Given the description of an element on the screen output the (x, y) to click on. 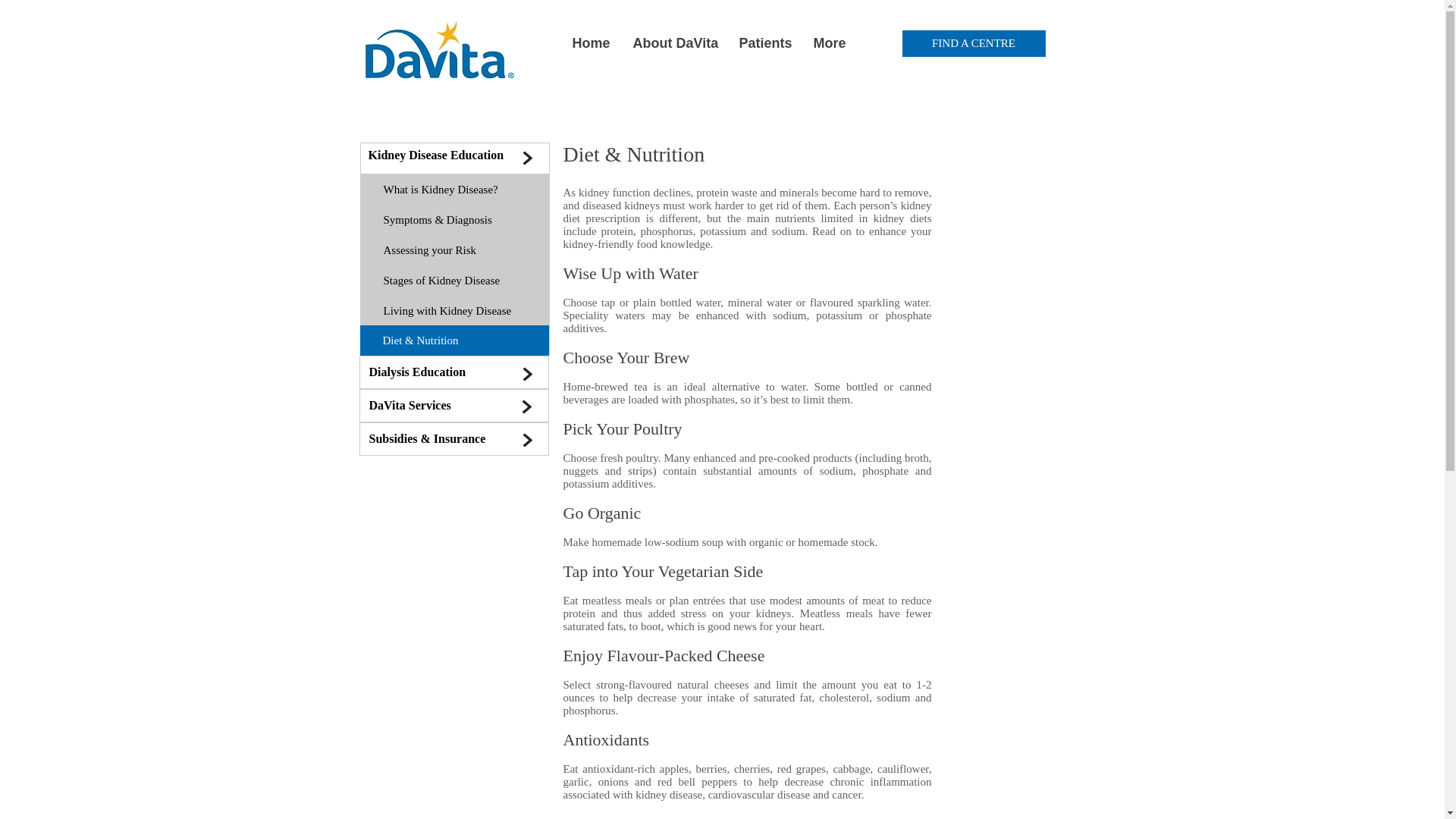
Home (590, 43)
Assessing your Risk (453, 250)
Living with Kidney Disease (453, 310)
Stages of Kidney Disease (453, 280)
What is Kidney Disease? (453, 189)
FIND A CENTRE (973, 43)
